Given the description of an element on the screen output the (x, y) to click on. 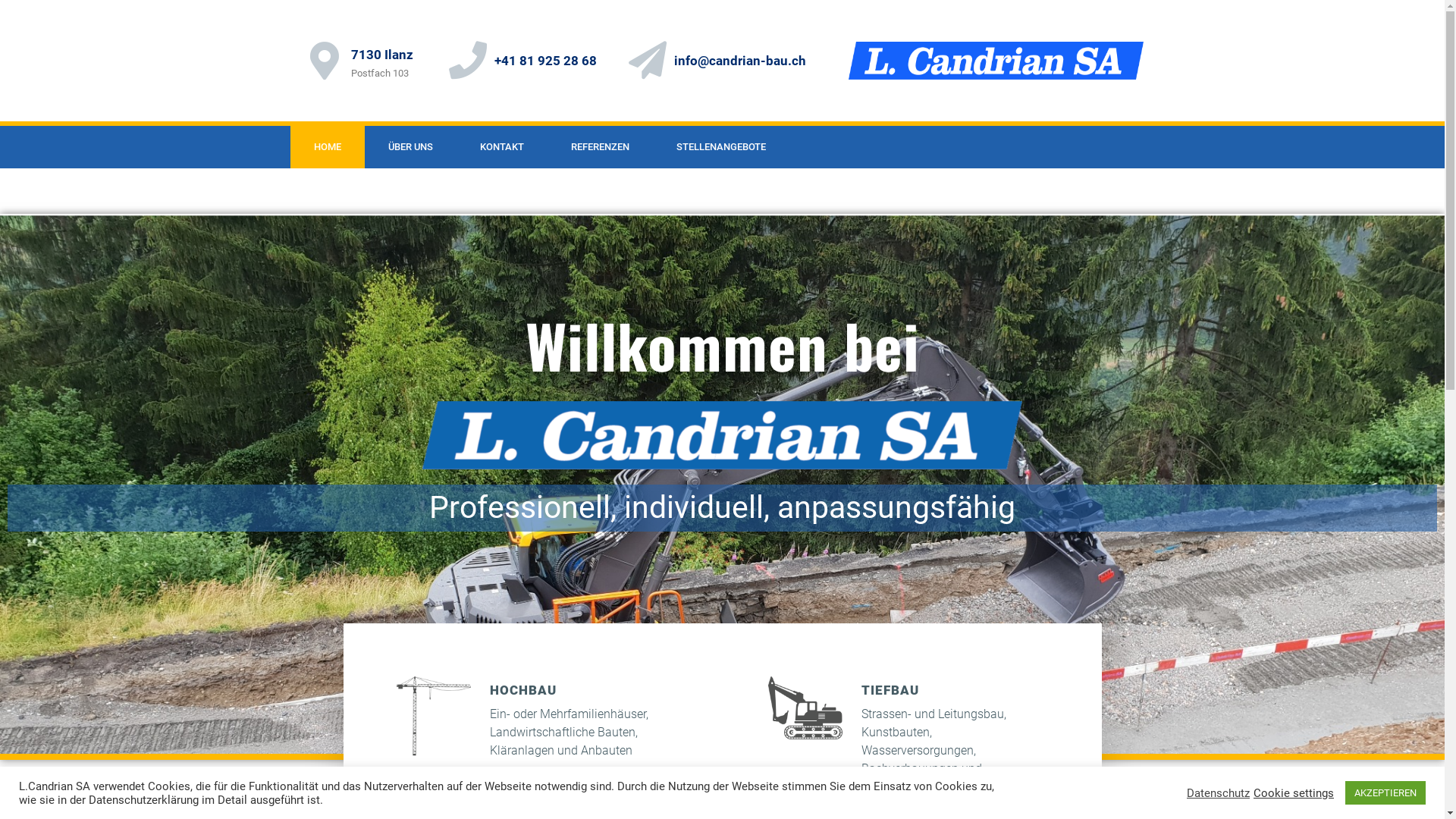
Datenschutz Element type: text (1217, 792)
KONTAKT Element type: text (501, 146)
REFERENZEN Element type: text (599, 146)
STELLENANGEBOTE Element type: text (720, 146)
TIEFBAU Element type: text (890, 689)
Cookie settings Element type: text (1293, 792)
HOCHBAU Element type: text (522, 689)
info@candrian-bau.ch Element type: text (740, 60)
AKZEPTIEREN Element type: text (1385, 792)
HOME Element type: text (326, 146)
+41 81 925 28 68 Element type: text (545, 60)
7130 Ilanz Element type: text (381, 54)
